Given the description of an element on the screen output the (x, y) to click on. 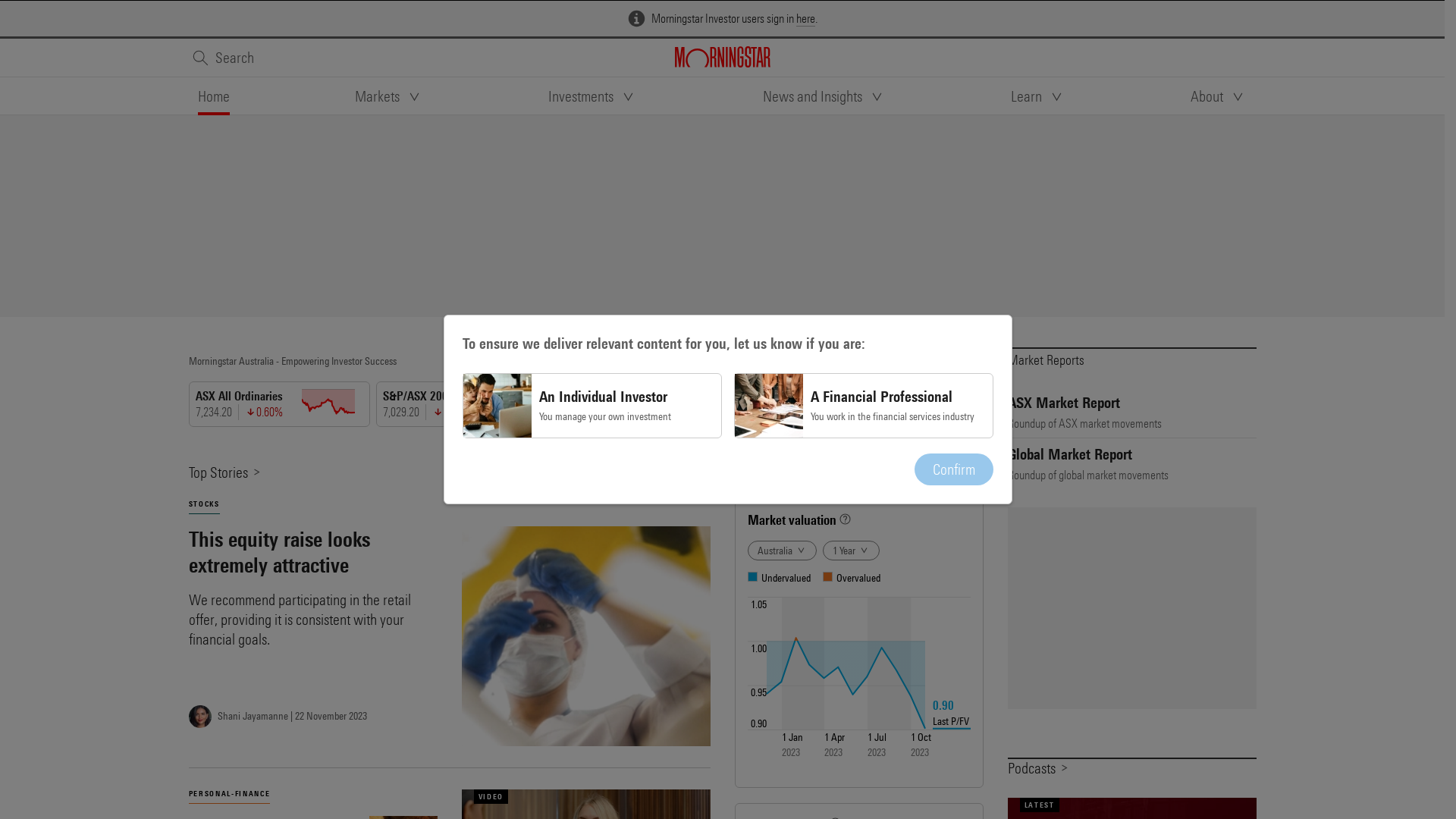
Confirm Element type: text (953, 469)
Global Market Report
Roundup of global market movements Element type: text (1131, 463)
About Element type: text (1218, 96)
Nikkei 225
33,451.83 Element type: text (1030, 403)
Search Element type: text (222, 57)
HKSE
17,910.84
0.99% Element type: text (844, 403)
ASX All Ordinaries
7,234.20
0.60% Element type: text (281, 403)
Markets Element type: text (388, 96)
here Element type: text (805, 18)
News and Insights Element type: text (823, 96)
NZX50 Index
11,187.52
0.16% Element type: text (655, 403)
Home Element type: text (213, 96)
1 Year Element type: text (850, 550)
This equity raise looks extremely attractive Element type: text (312, 551)
ASX Market Report
Roundup of ASX market movements Element type: text (1131, 411)
PERSONAL-FINANCE Element type: text (228, 793)
Australia Element type: text (781, 550)
Market Element type: text (760, 471)
Top Stories Element type: text (224, 471)
Podcasts Element type: text (1038, 767)
Investments Element type: text (592, 96)
Learn Element type: text (1037, 96)
STOCKS Element type: text (203, 503)
S&P/ASX 200
7,029.20
0.62% Element type: text (469, 403)
